Given the description of an element on the screen output the (x, y) to click on. 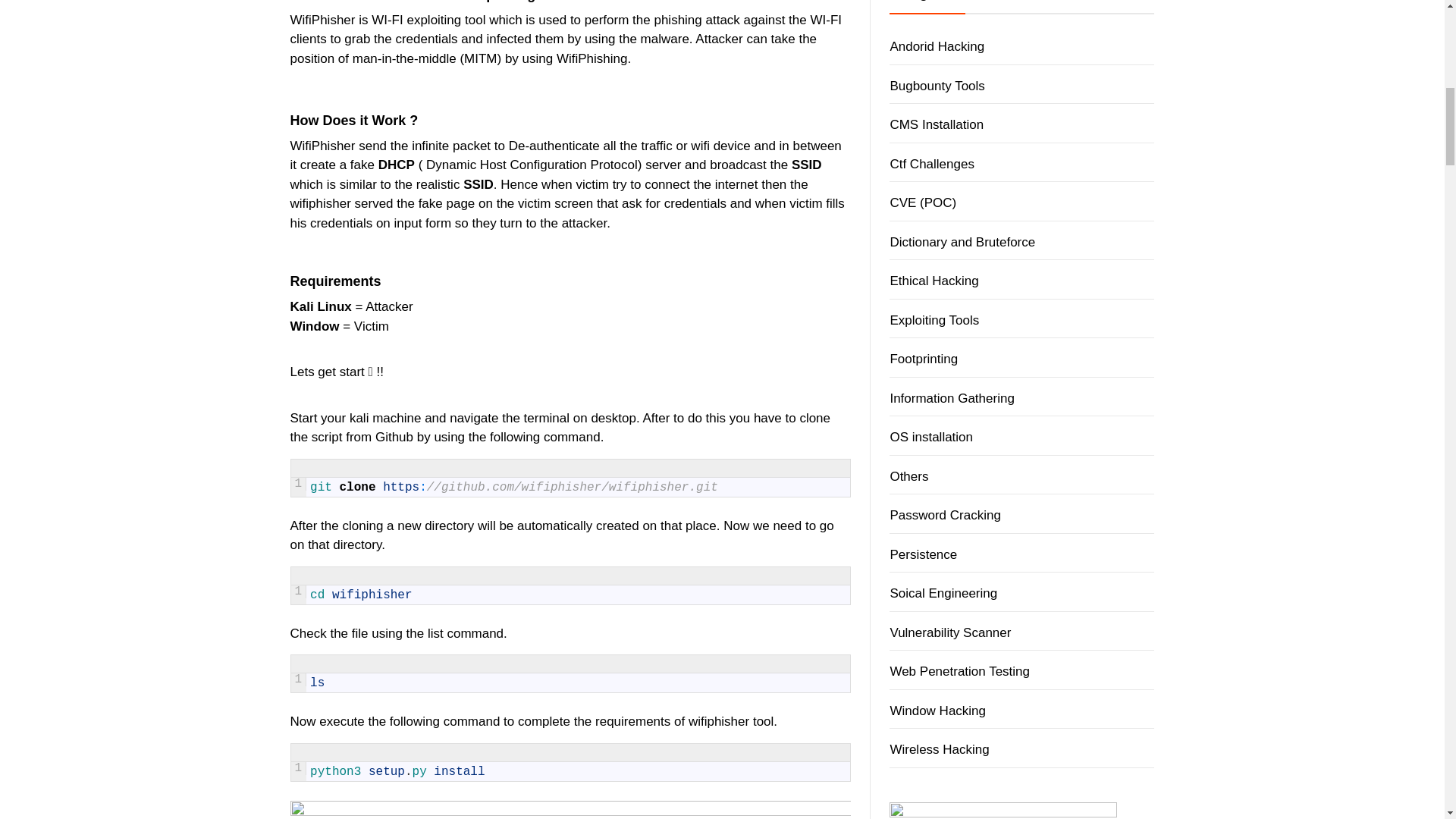
Toggle Line Wrap (803, 468)
Copy (822, 468)
Copy (822, 576)
Toggle Line Numbers (767, 468)
Toggle Line Numbers (767, 664)
Toggle Line Wrap (803, 576)
Toggle Line Numbers (767, 576)
Open Code In New Window (840, 468)
Toggle Line Wrap (803, 664)
Toggle Plain Code (785, 576)
